Given the description of an element on the screen output the (x, y) to click on. 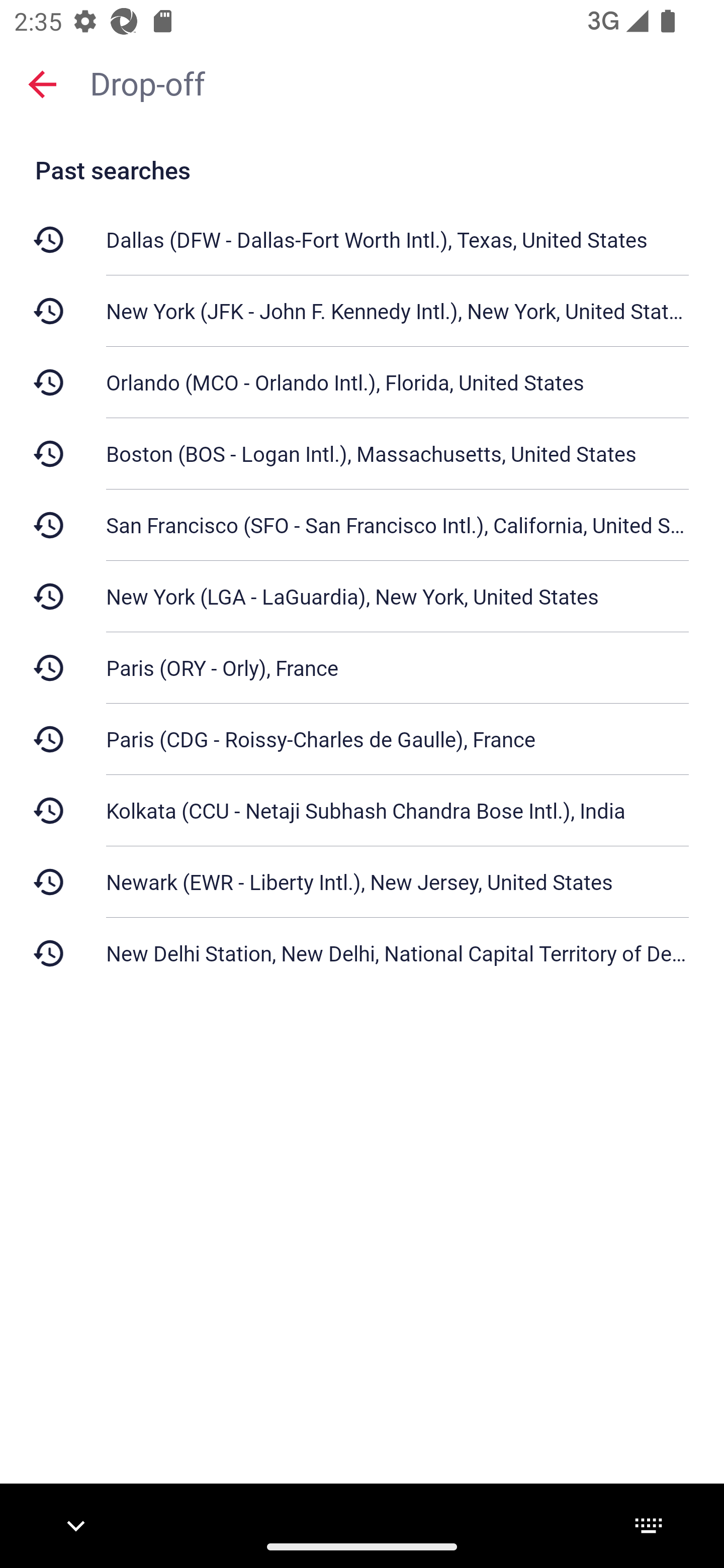
Drop-off,  (397, 82)
Close search screen (41, 83)
